Given the description of an element on the screen output the (x, y) to click on. 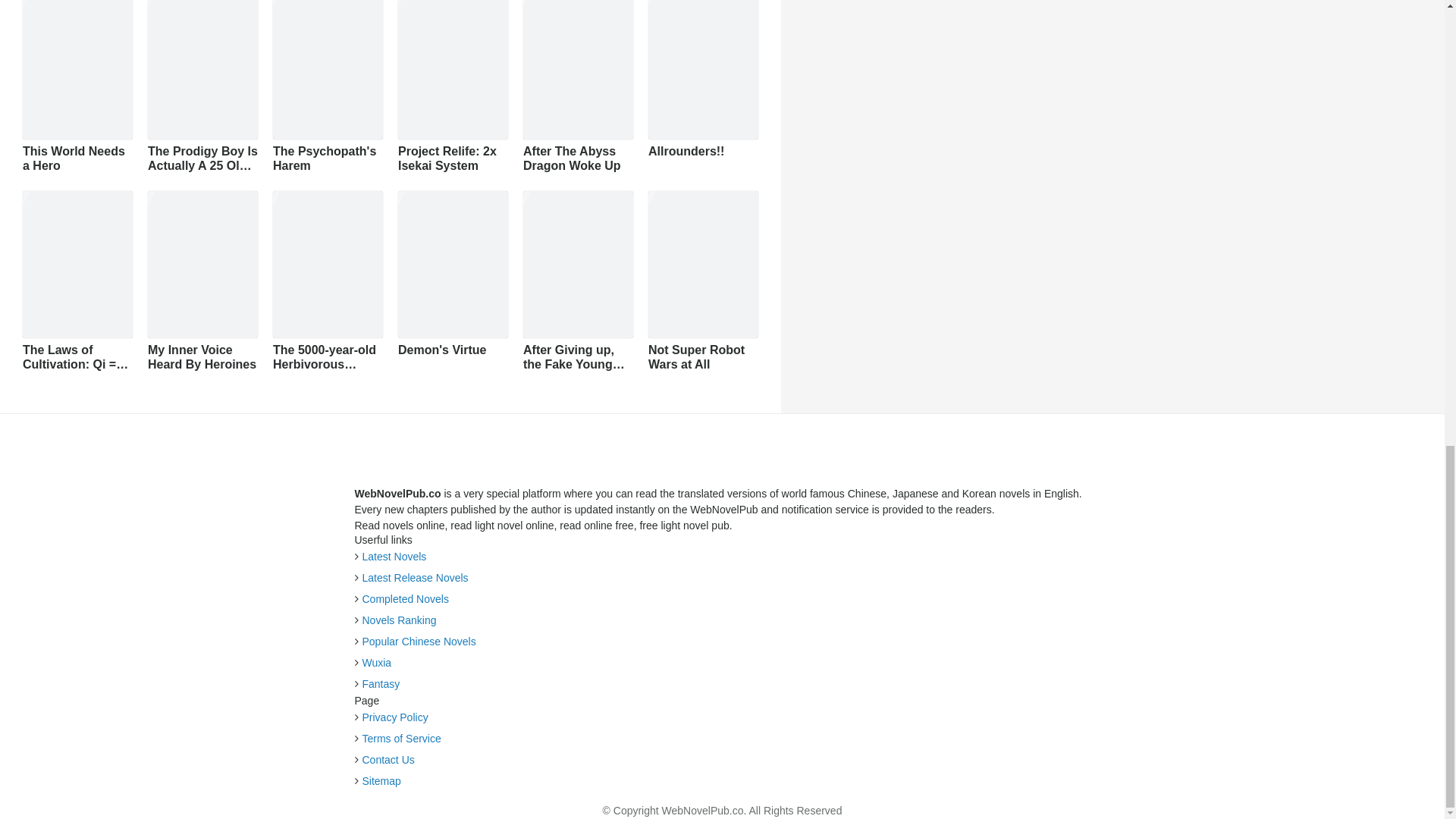
WebNovelPub.co (720, 20)
Latest Novels (768, 629)
